Given the description of an element on the screen output the (x, y) to click on. 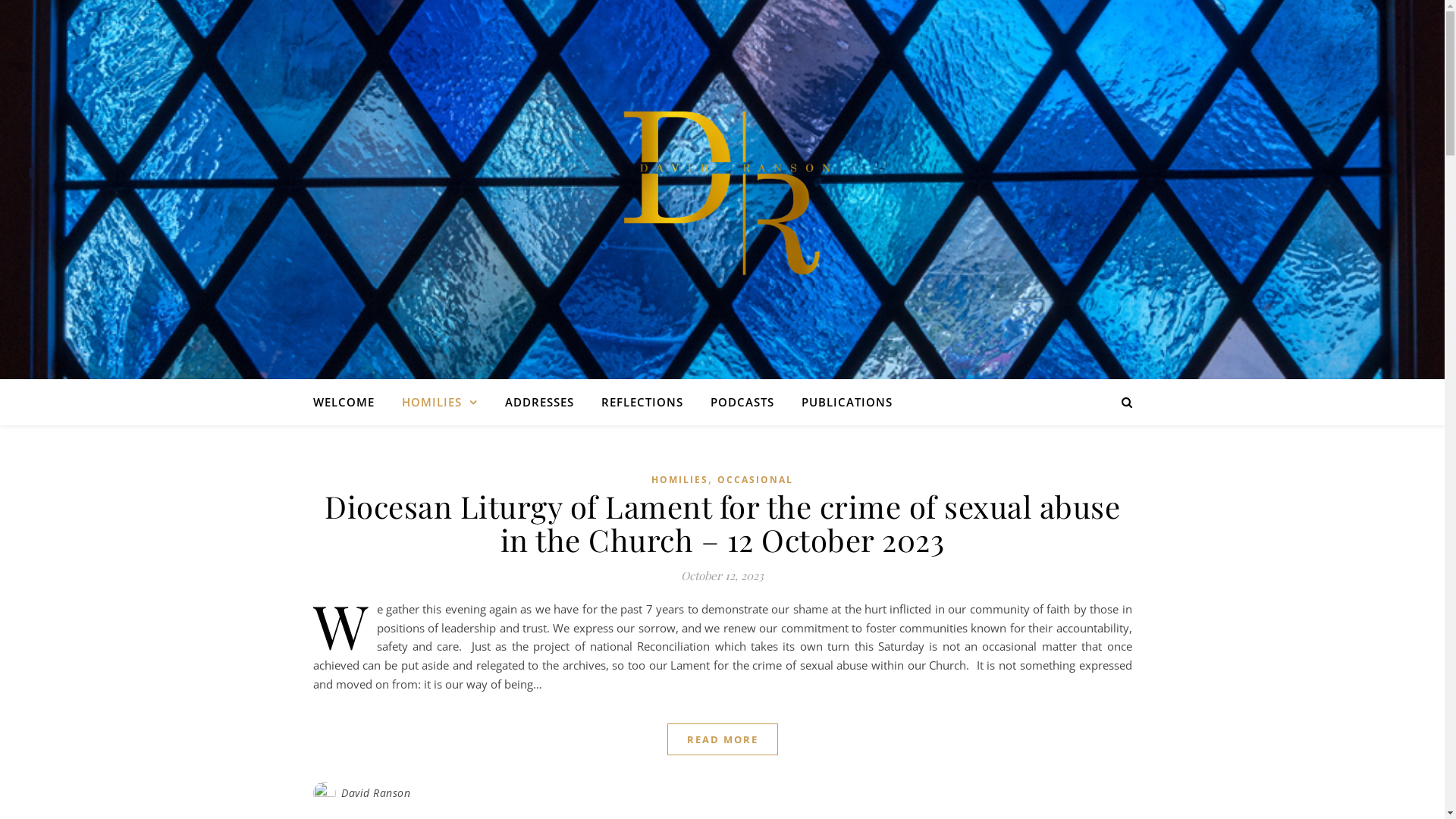
David Ranson Element type: hover (721, 189)
REFLECTIONS Element type: text (641, 401)
HOMILIES Element type: text (679, 479)
David Ranson Element type: text (375, 792)
READ MORE Element type: text (722, 739)
WELCOME Element type: text (348, 401)
PUBLICATIONS Element type: text (839, 401)
PODCASTS Element type: text (741, 401)
OCCASIONAL Element type: text (755, 479)
HOMILIES Element type: text (439, 402)
ADDRESSES Element type: text (539, 401)
